Given the description of an element on the screen output the (x, y) to click on. 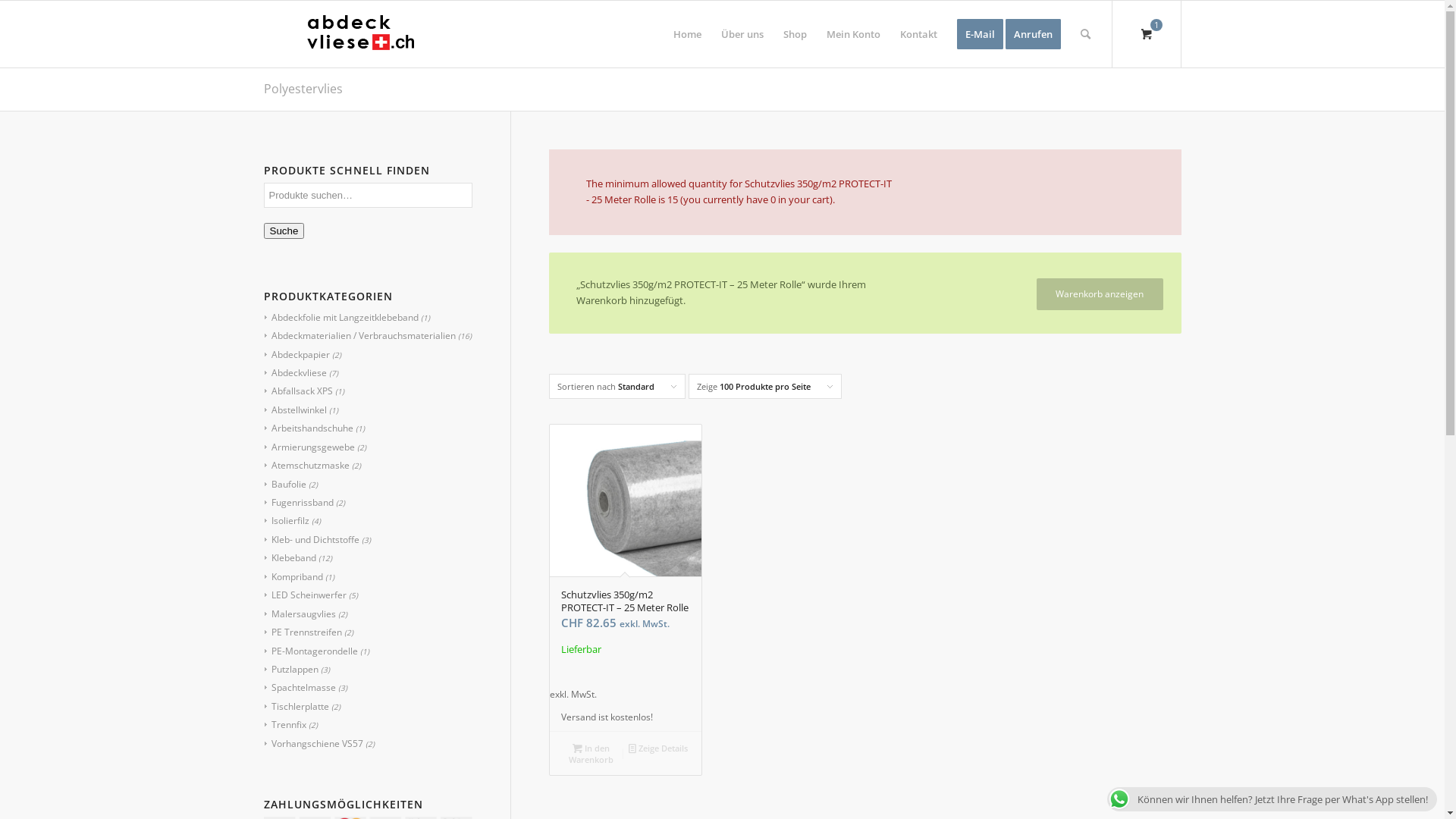
Home Element type: text (686, 33)
Kontakt Element type: text (918, 33)
PE Trennstreifen Element type: text (302, 631)
Abstellwinkel Element type: text (294, 409)
Shop Element type: text (794, 33)
Isolierfilz Element type: text (285, 520)
1 Element type: text (1145, 33)
Tischlerplatte Element type: text (295, 705)
E-Mail Element type: text (979, 33)
In den Warenkorb Element type: text (590, 753)
Armierungsgewebe Element type: text (308, 446)
Klebeband Element type: text (289, 557)
Zeige Details Element type: text (657, 747)
Spachtelmasse Element type: text (299, 686)
Mein Konto Element type: text (852, 33)
Abdeckvliese Element type: text (294, 372)
Abdeckpapier Element type: text (296, 354)
Atemschutzmaske Element type: text (305, 464)
Putzlappen Element type: text (290, 668)
Abfallsack XPS Element type: text (297, 390)
Arbeitshandschuhe Element type: text (307, 427)
Vorhangschiene VS57 Element type: text (312, 743)
Suche Element type: text (283, 230)
Kleb- und Dichtstoffe Element type: text (310, 539)
LED Scheinwerfer Element type: text (304, 594)
Trennfix Element type: text (284, 724)
Kompriband Element type: text (292, 576)
Malersaugvlies Element type: text (299, 613)
Abdeckfolie mit Langzeitklebeband Element type: text (340, 316)
Abdeckmaterialien / Verbrauchsmaterialien Element type: text (359, 335)
Fugenrissband Element type: text (297, 501)
abdeckvliese-logo Element type: hover (358, 33)
Warenkorb anzeigen Element type: text (1099, 294)
PE-Montagerondelle Element type: text (310, 650)
Anrufen Element type: text (1037, 33)
Baufolie Element type: text (284, 483)
